Given the description of an element on the screen output the (x, y) to click on. 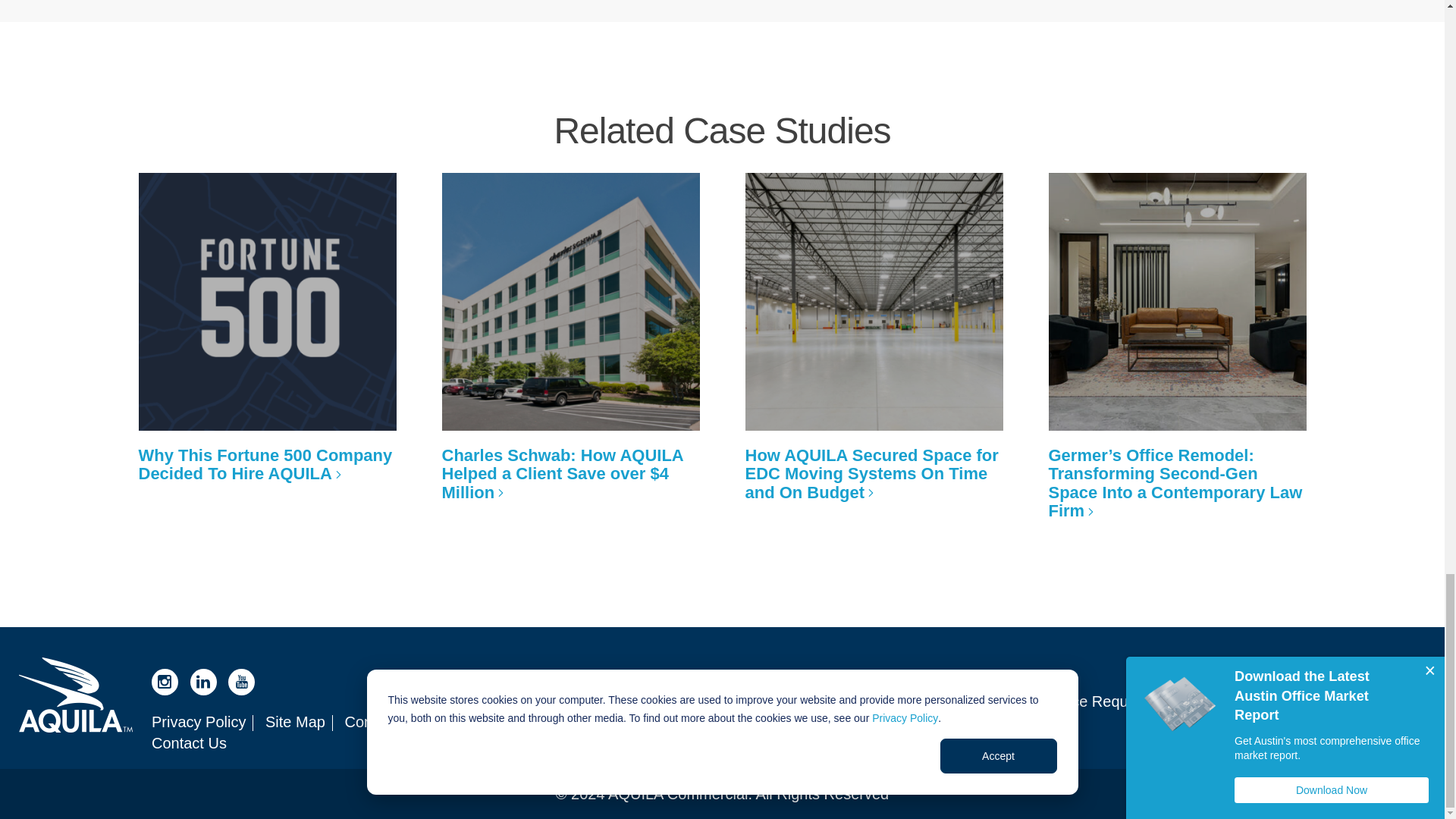
Tenant Service Request (1066, 701)
